Given the description of an element on the screen output the (x, y) to click on. 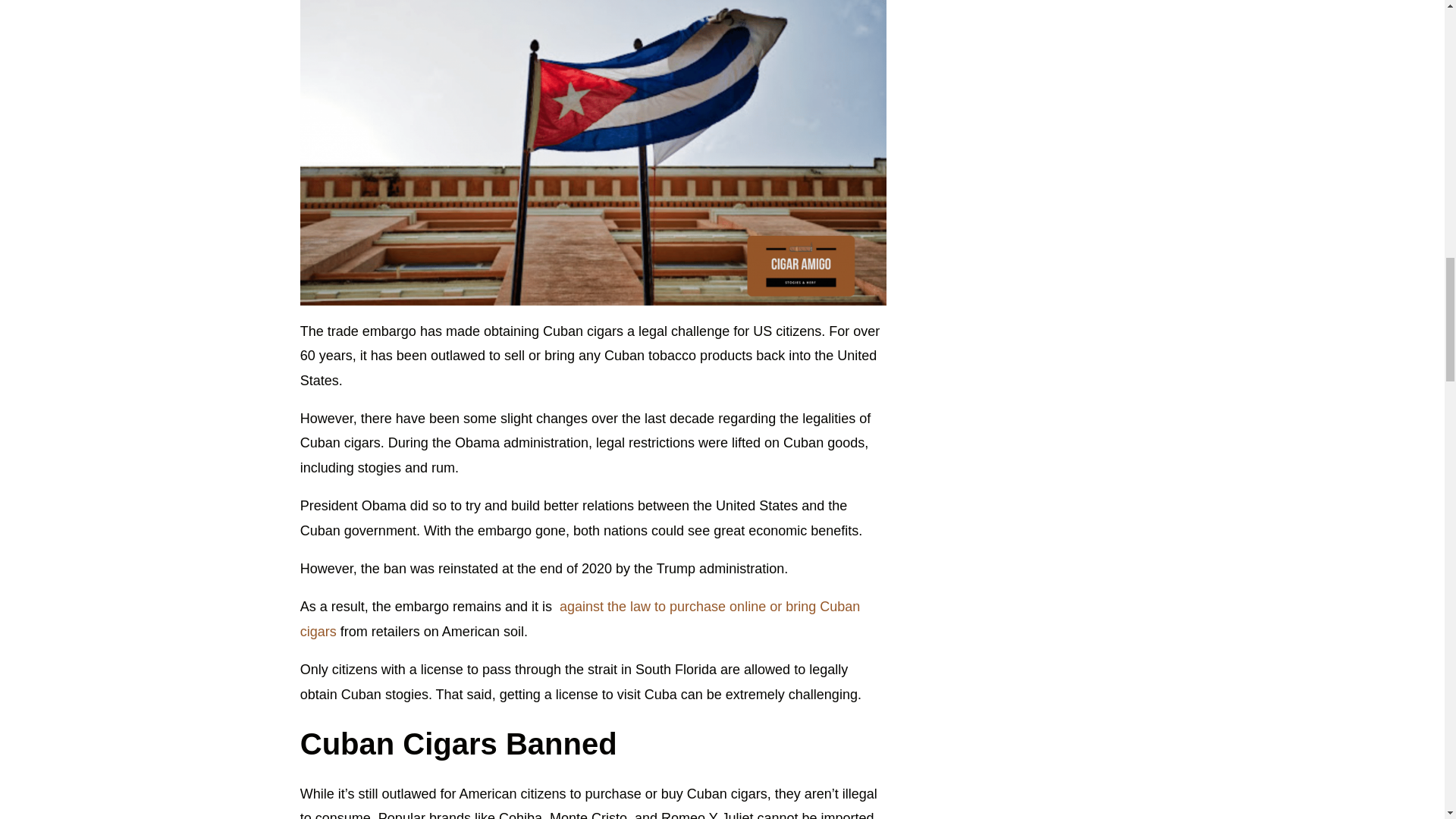
against the law to purchase online or bring Cuban cigars (579, 618)
